Given the description of an element on the screen output the (x, y) to click on. 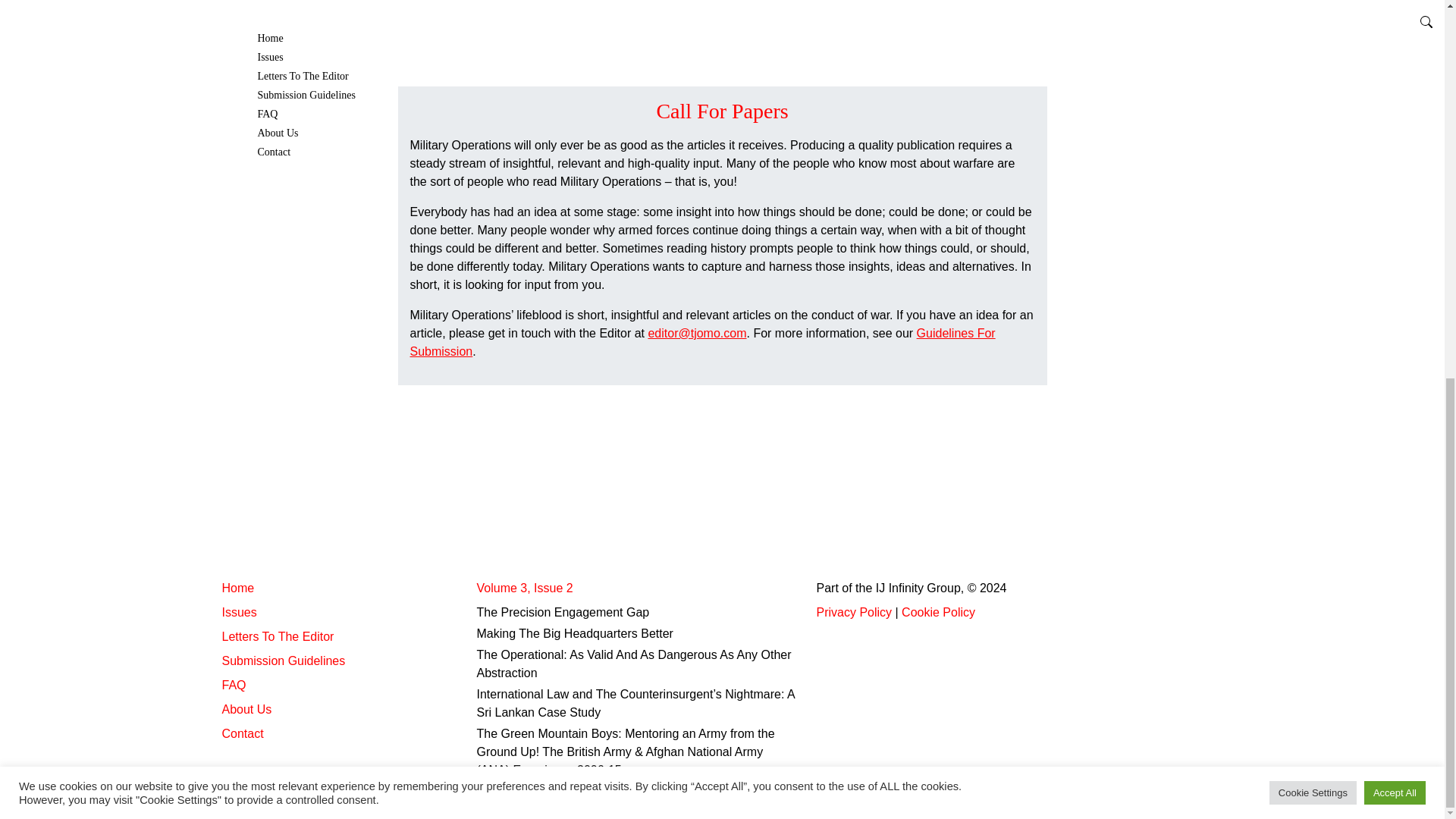
FAQ (233, 684)
Cookie Settings (1312, 92)
Making The Big Headquarters Better (574, 633)
Home (237, 587)
Cookie Policy (938, 612)
Issues (238, 612)
Guidelines For Submission (701, 341)
Submission Guidelines (283, 660)
Volume 3, Issue 2 (524, 587)
Privacy Policy (853, 612)
Letters To The Editor (277, 635)
The Precision Engagement Gap (562, 612)
Contact (242, 733)
Accept All (1394, 92)
